Given the description of an element on the screen output the (x, y) to click on. 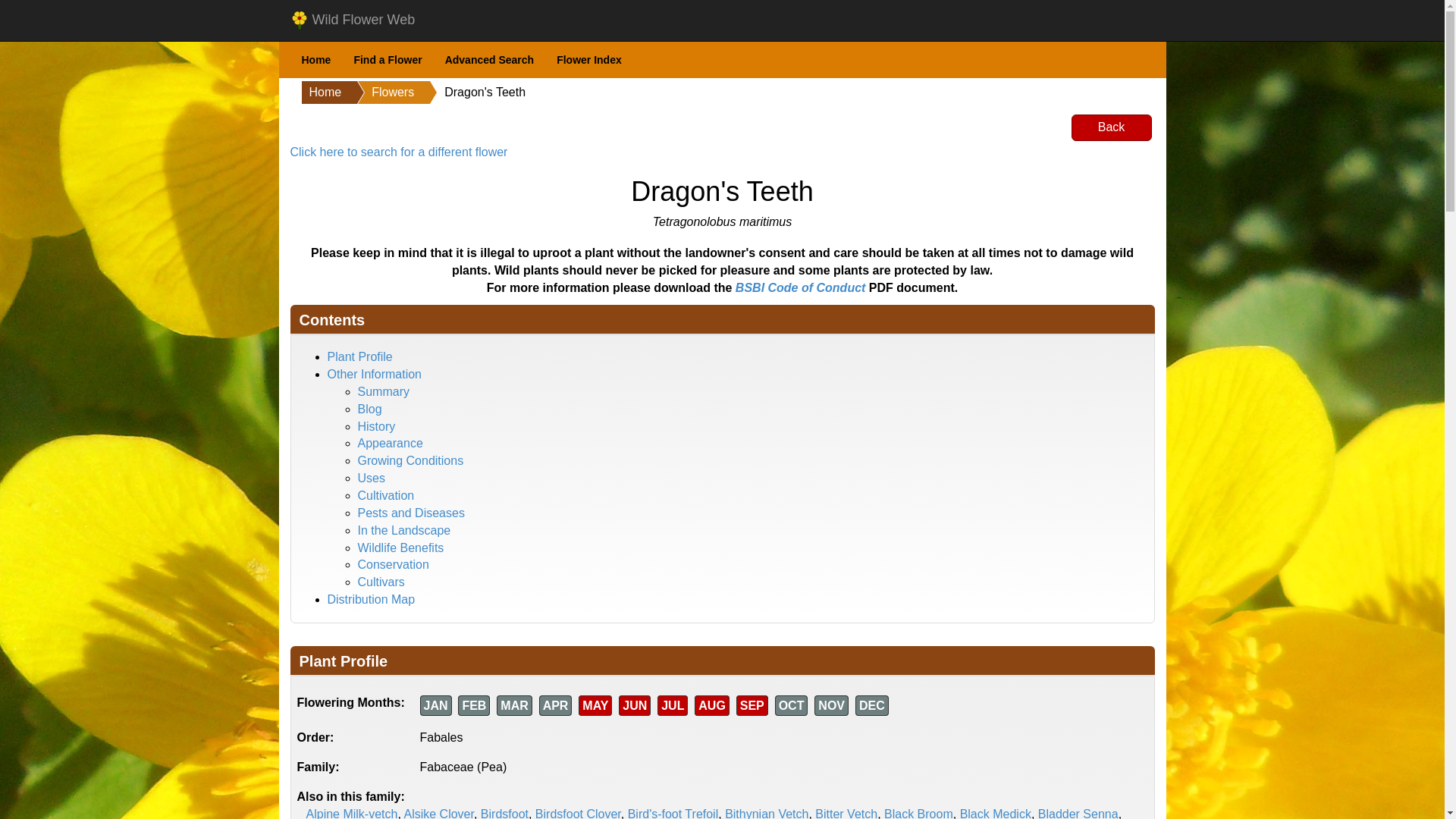
Flower Index (588, 60)
Click here to search for a different flower (397, 151)
Alsike Clover (438, 813)
In the Landscape (404, 530)
Flowers (376, 92)
BSBI Code of Conduct (800, 287)
Uses (371, 477)
Plant Profile (360, 356)
Black Medick (994, 813)
Conservation (393, 563)
Advanced Search (489, 60)
Summary (383, 391)
Bird's-foot Trefoil (673, 813)
Blog (369, 408)
Birdsfoot Clover (578, 813)
